Given the description of an element on the screen output the (x, y) to click on. 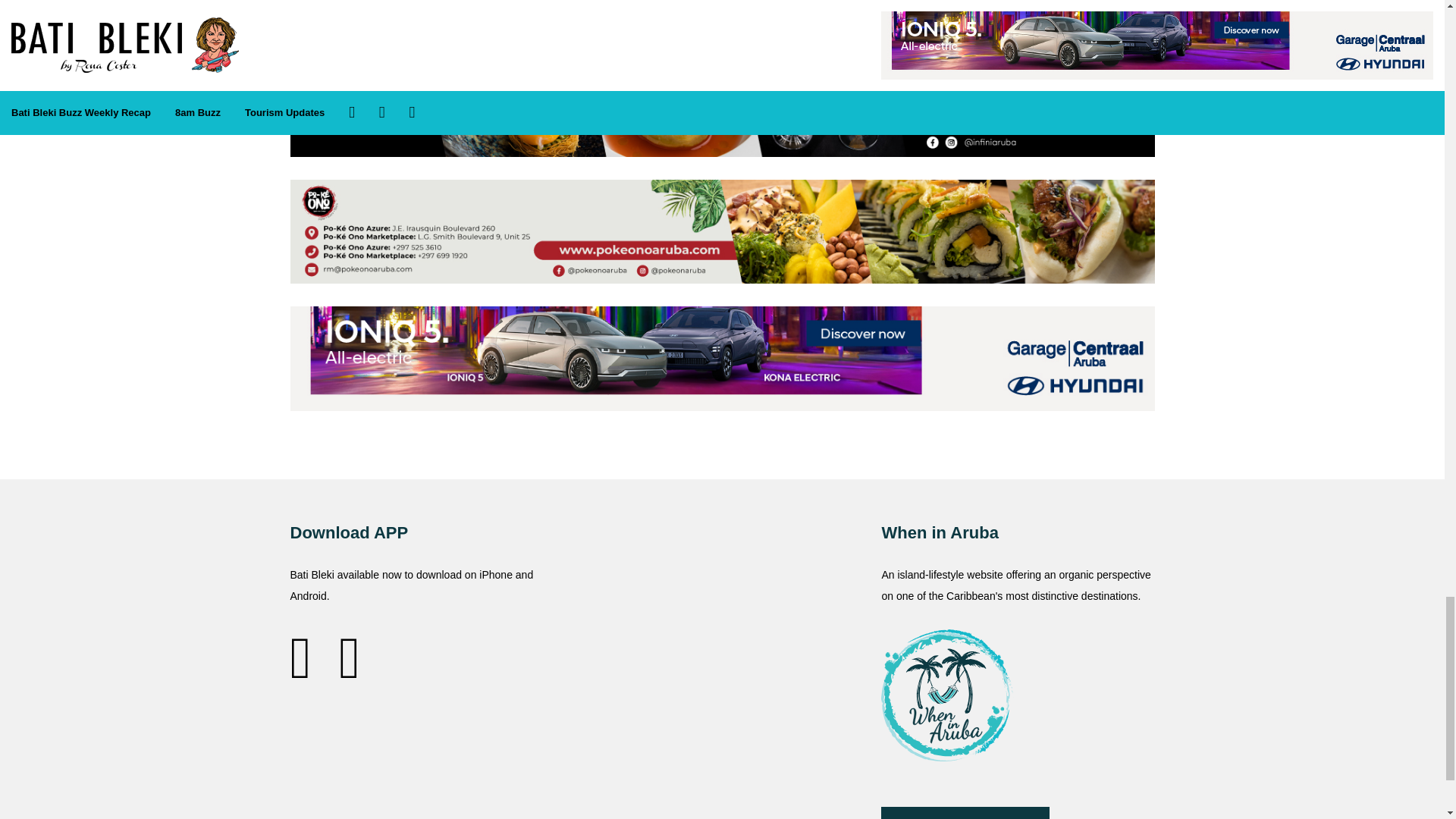
Go to Google Play (349, 657)
Go to App Store (308, 657)
